Given the description of an element on the screen output the (x, y) to click on. 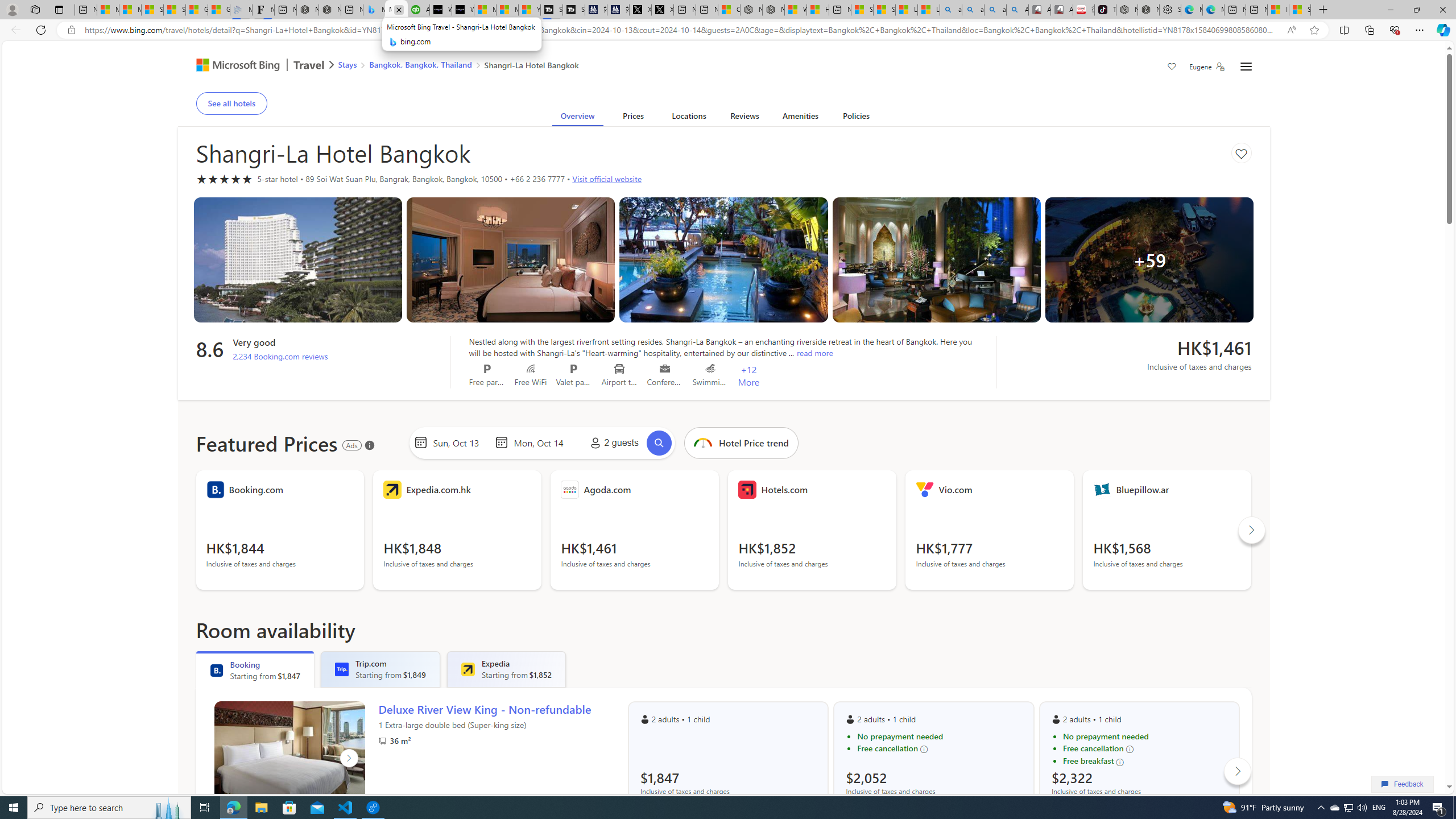
Back (13, 29)
Booking Booking Starting from $1,847 (254, 669)
Close tab (398, 9)
Accounting Software for Accountants, CPAs and Bookkeepers (418, 9)
TikTok (1105, 9)
Class: msft-travel-logo (308, 64)
Refresh (40, 29)
About our ads (369, 445)
Microsoft Bing Travel (253, 65)
End date (541, 442)
Read aloud this page (Ctrl+Shift+U) (1291, 29)
Free cancellation (1144, 748)
Free parking (486, 368)
